Given the description of an element on the screen output the (x, y) to click on. 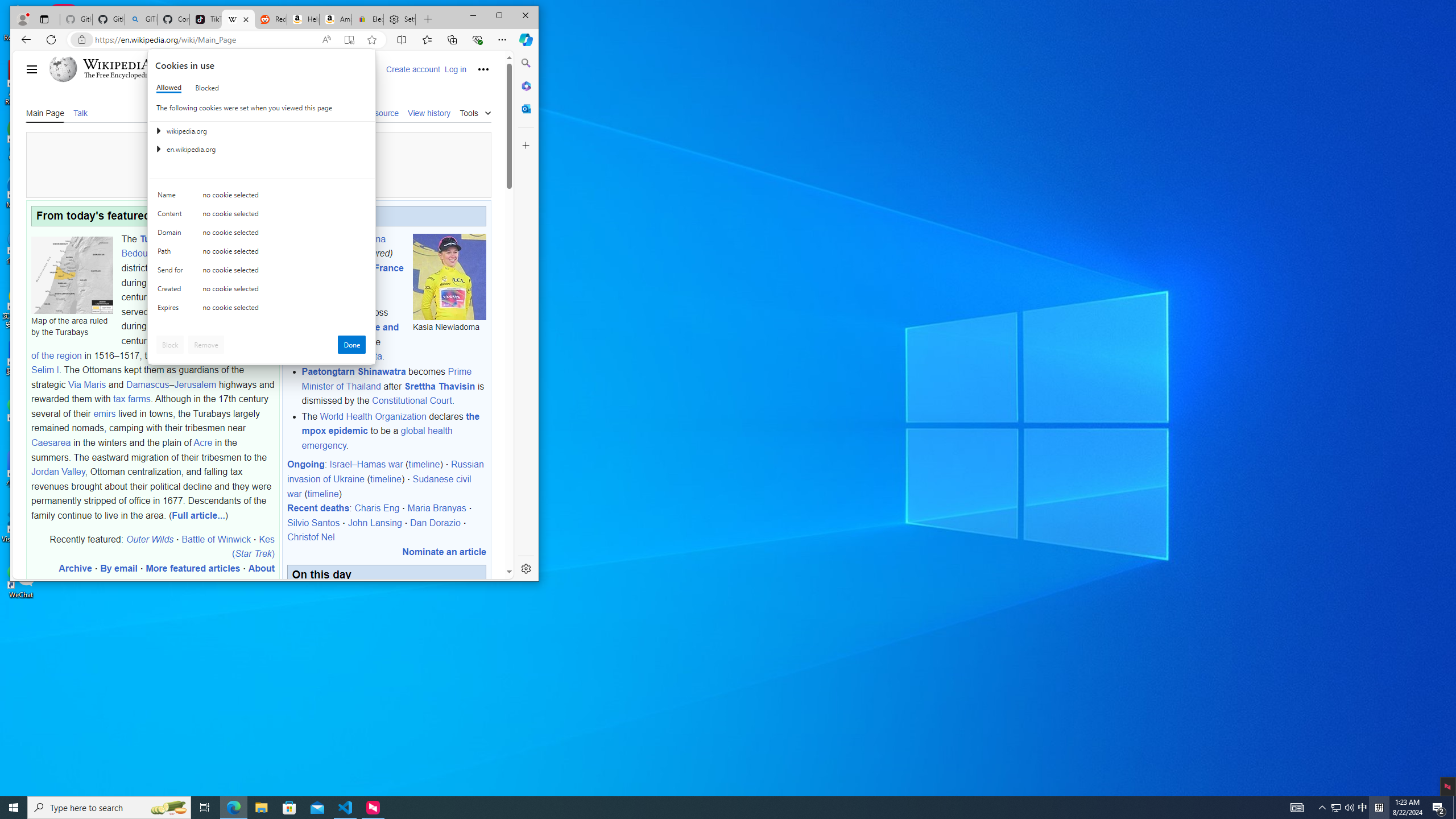
Expires (172, 310)
Class: c0153 c0157 (261, 309)
Running applications (707, 807)
Visual Studio Code - 1 running window (345, 807)
Search highlights icon opens search home window (167, 807)
no cookie selected (284, 310)
Content (172, 216)
Tray Input Indicator - Chinese (Simplified, China) (1378, 807)
Microsoft Store (289, 807)
Path (172, 253)
Done (351, 344)
Block (169, 344)
User Promoted Notification Area (1342, 807)
